Given the description of an element on the screen output the (x, y) to click on. 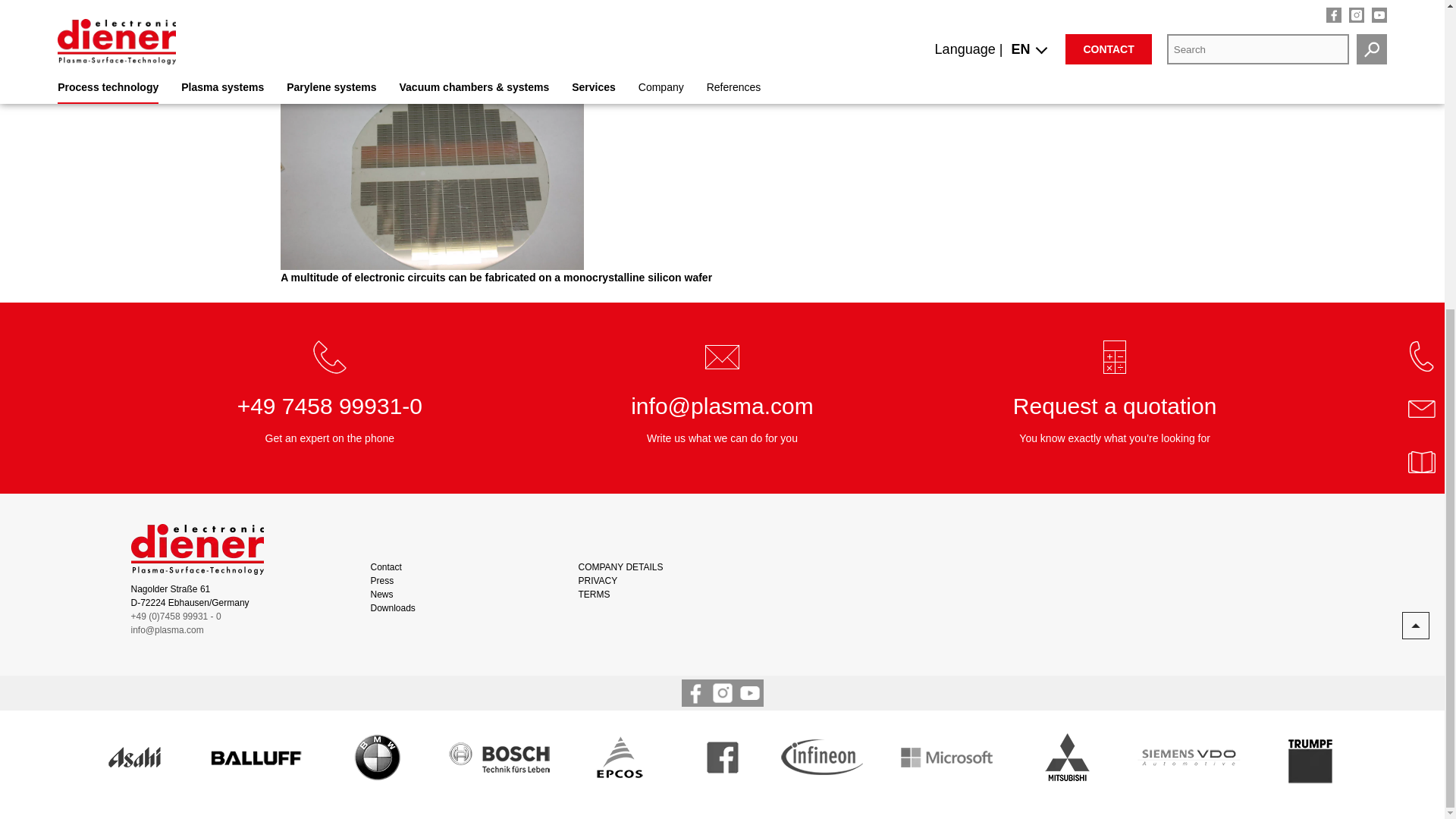
Silicon wafer (496, 156)
Opens internal link in current window (891, 4)
Silicon wafer (432, 156)
Opens internal link in current window (801, 4)
Plasma (329, 405)
Opens internal link in current window (333, 18)
